Given the description of an element on the screen output the (x, y) to click on. 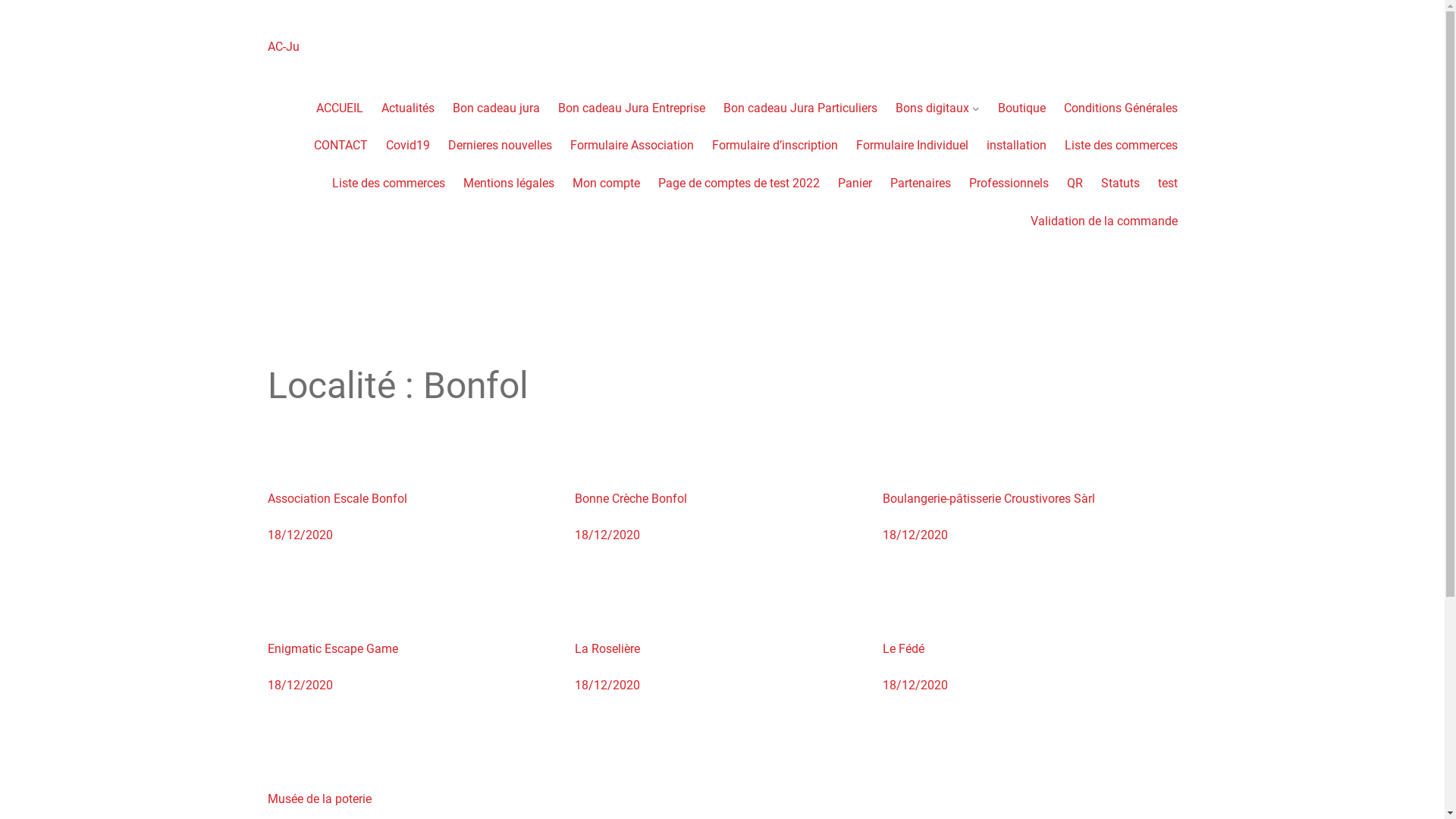
Page de comptes de test 2022 Element type: text (738, 183)
installation Element type: text (1015, 145)
Validation de la commande Element type: text (1102, 221)
Bon cadeau Jura Particuliers Element type: text (800, 108)
Panier Element type: text (854, 183)
AC-Ju Element type: text (282, 46)
Liste des commerces Element type: text (388, 183)
CONTACT Element type: text (340, 145)
18/12/2020 Element type: text (607, 684)
Dernieres nouvelles Element type: text (499, 145)
test Element type: text (1166, 183)
18/12/2020 Element type: text (914, 534)
Formulaire Individuel Element type: text (911, 145)
Formulaire Association Element type: text (631, 145)
Covid19 Element type: text (407, 145)
Partenaires Element type: text (920, 183)
Bon cadeau Jura Entreprise Element type: text (631, 108)
Bons digitaux Element type: text (932, 108)
Liste des commerces Element type: text (1120, 145)
Enigmatic Escape Game Element type: text (331, 648)
Professionnels Element type: text (1008, 183)
Boutique Element type: text (1021, 108)
18/12/2020 Element type: text (607, 534)
Bon cadeau jura Element type: text (495, 108)
18/12/2020 Element type: text (299, 534)
18/12/2020 Element type: text (299, 684)
Statuts Element type: text (1120, 183)
Mon compte Element type: text (605, 183)
ACCUEIL Element type: text (339, 108)
18/12/2020 Element type: text (914, 684)
QR Element type: text (1074, 183)
Association Escale Bonfol Element type: text (336, 498)
